Given the description of an element on the screen output the (x, y) to click on. 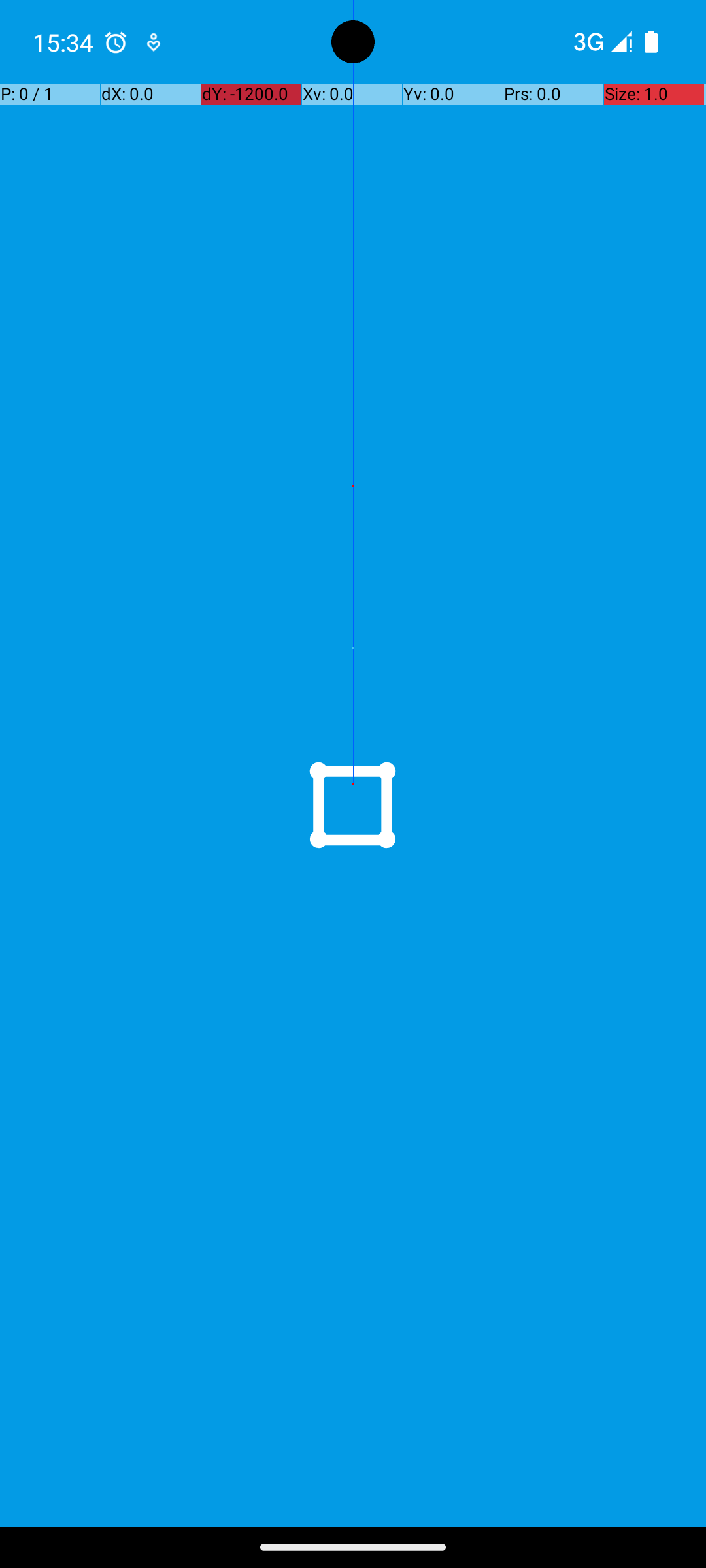
Digital Wellbeing notification: Updating Digital Wellbeing… Element type: android.widget.ImageView (153, 41)
